Given the description of an element on the screen output the (x, y) to click on. 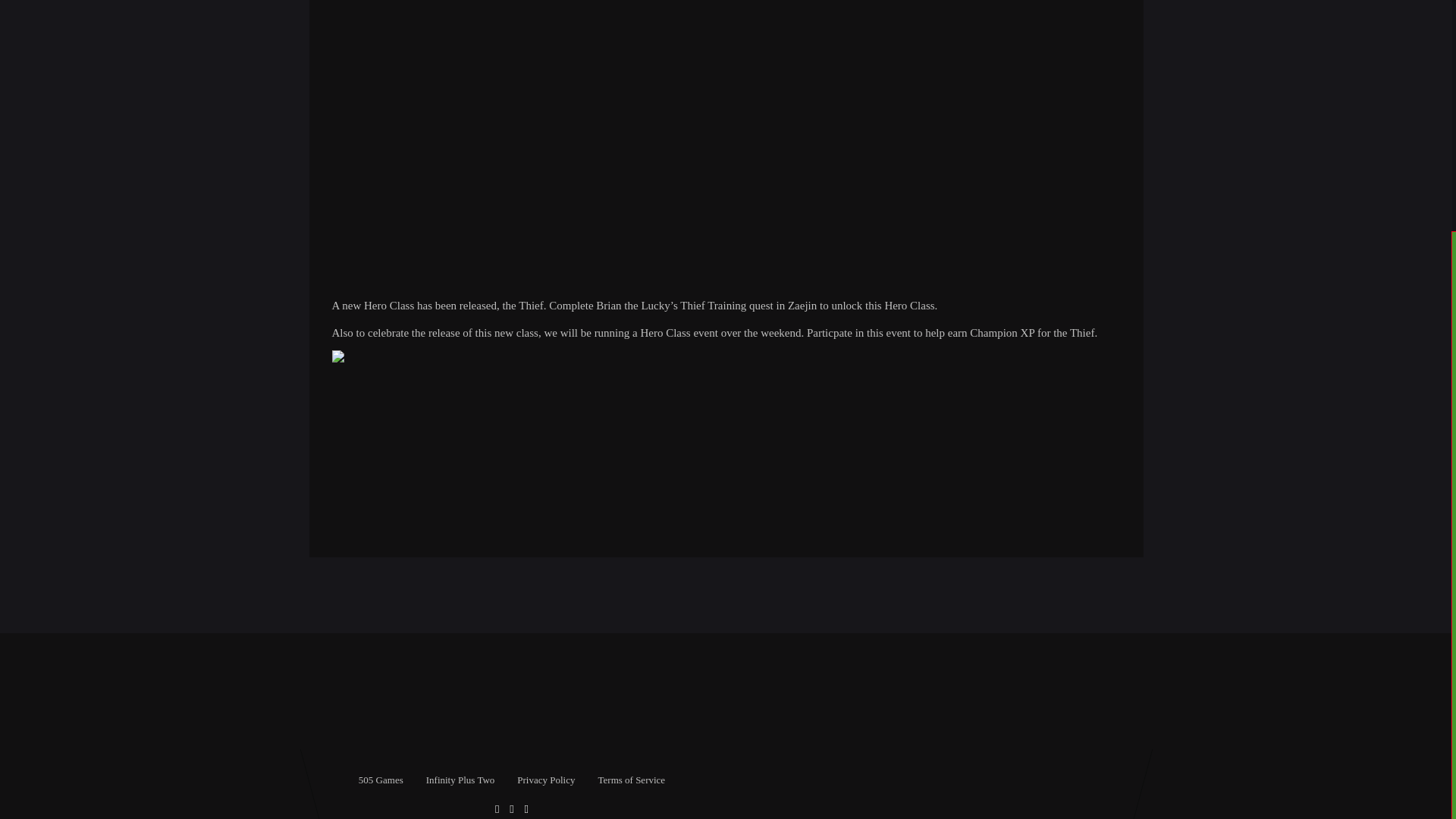
Privacy Policy (545, 779)
Terms of Service (630, 779)
Infinity Plus Two (460, 779)
505 Games (380, 779)
